Given the description of an element on the screen output the (x, y) to click on. 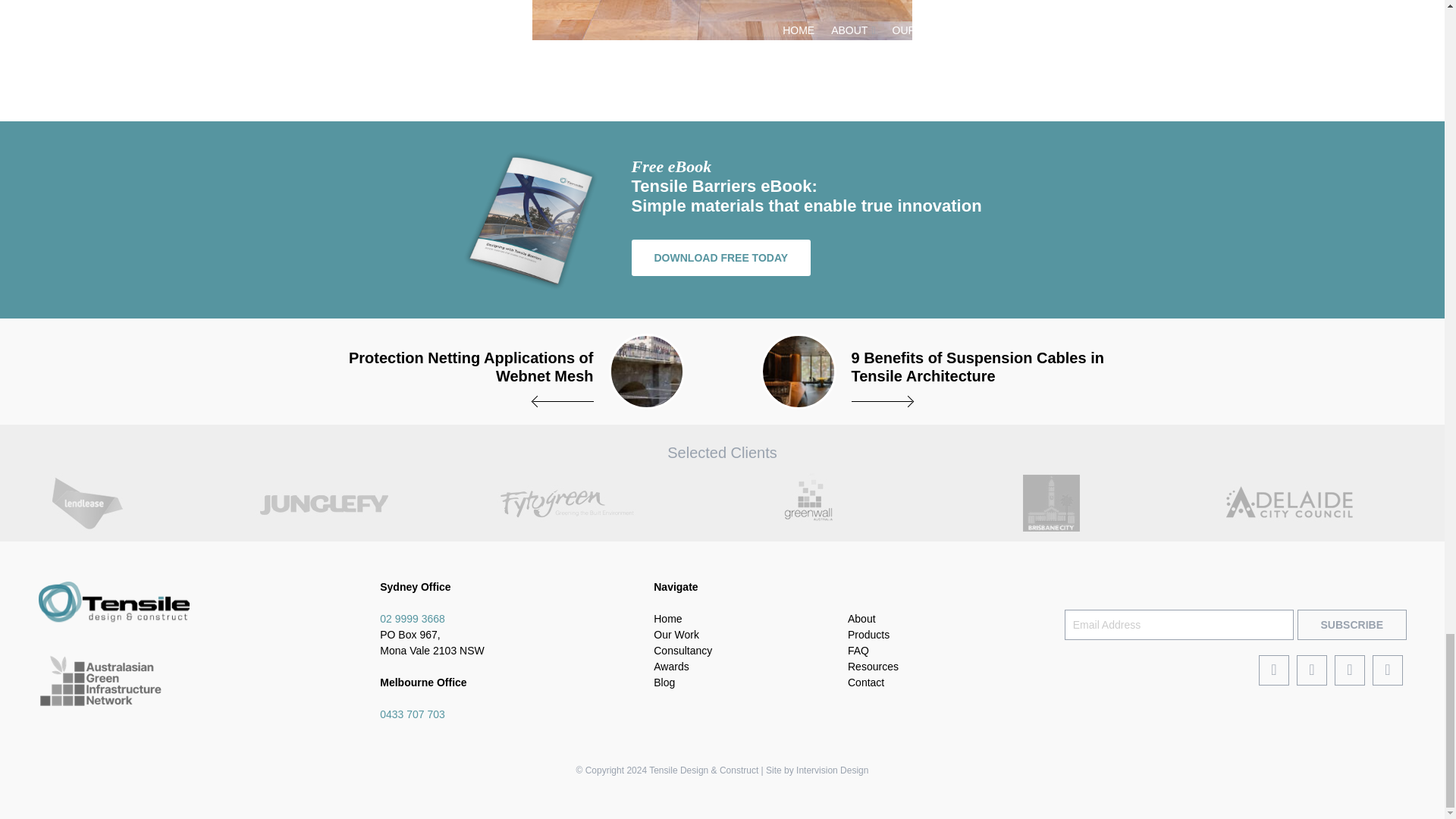
Intervision Design (831, 769)
DOWNLOAD FREE TODAY (720, 257)
Subscribe (1351, 624)
